Given the description of an element on the screen output the (x, y) to click on. 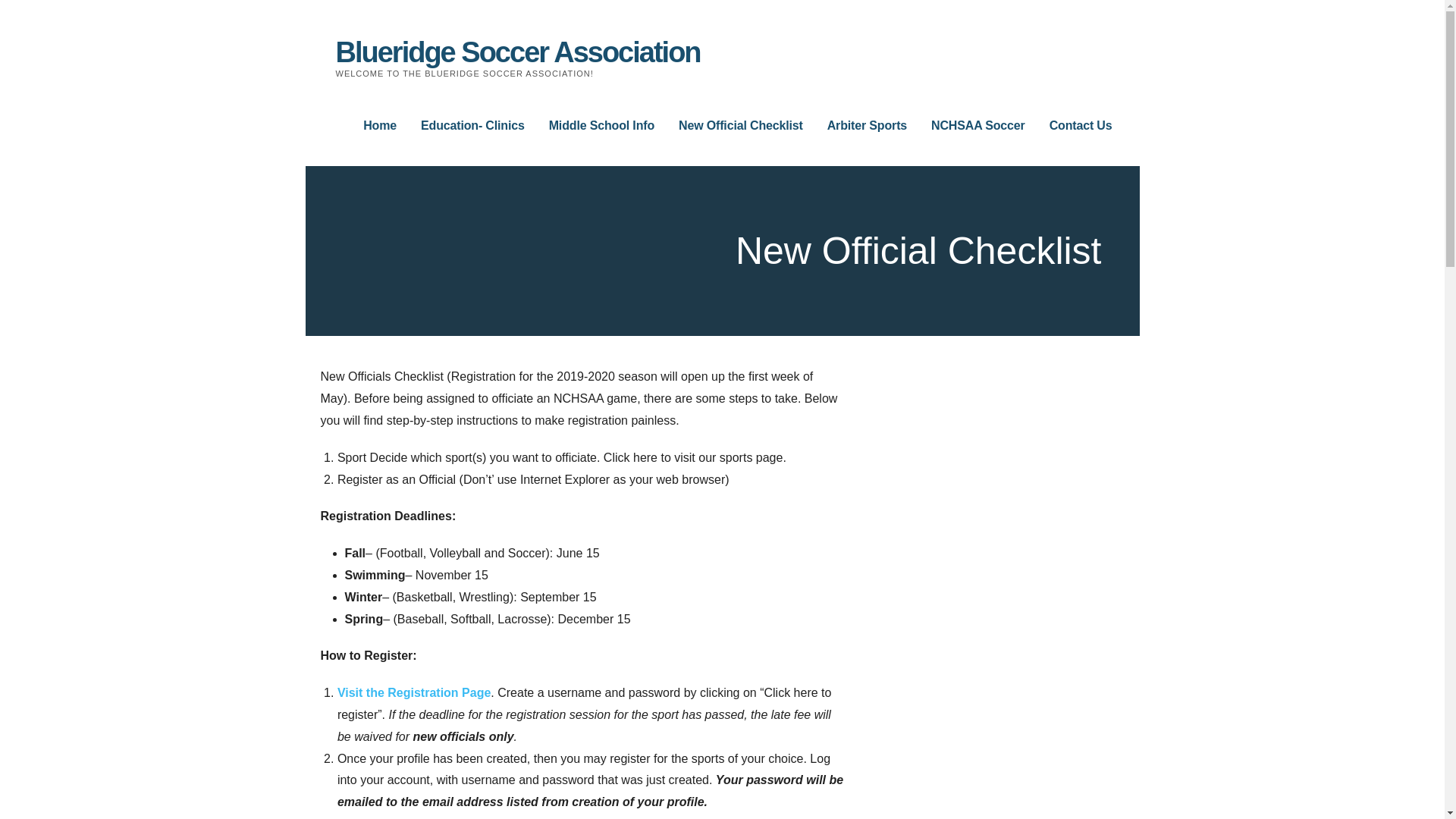
Education- Clinics (472, 126)
Home (379, 126)
New Official Checklist (740, 126)
Contact Us (1080, 126)
Arbiter Sports (867, 126)
Blueridge Soccer Association (517, 51)
NCHSAA Soccer (978, 126)
Middle School Info (600, 126)
Visit the Registration Page (413, 692)
